Given the description of an element on the screen output the (x, y) to click on. 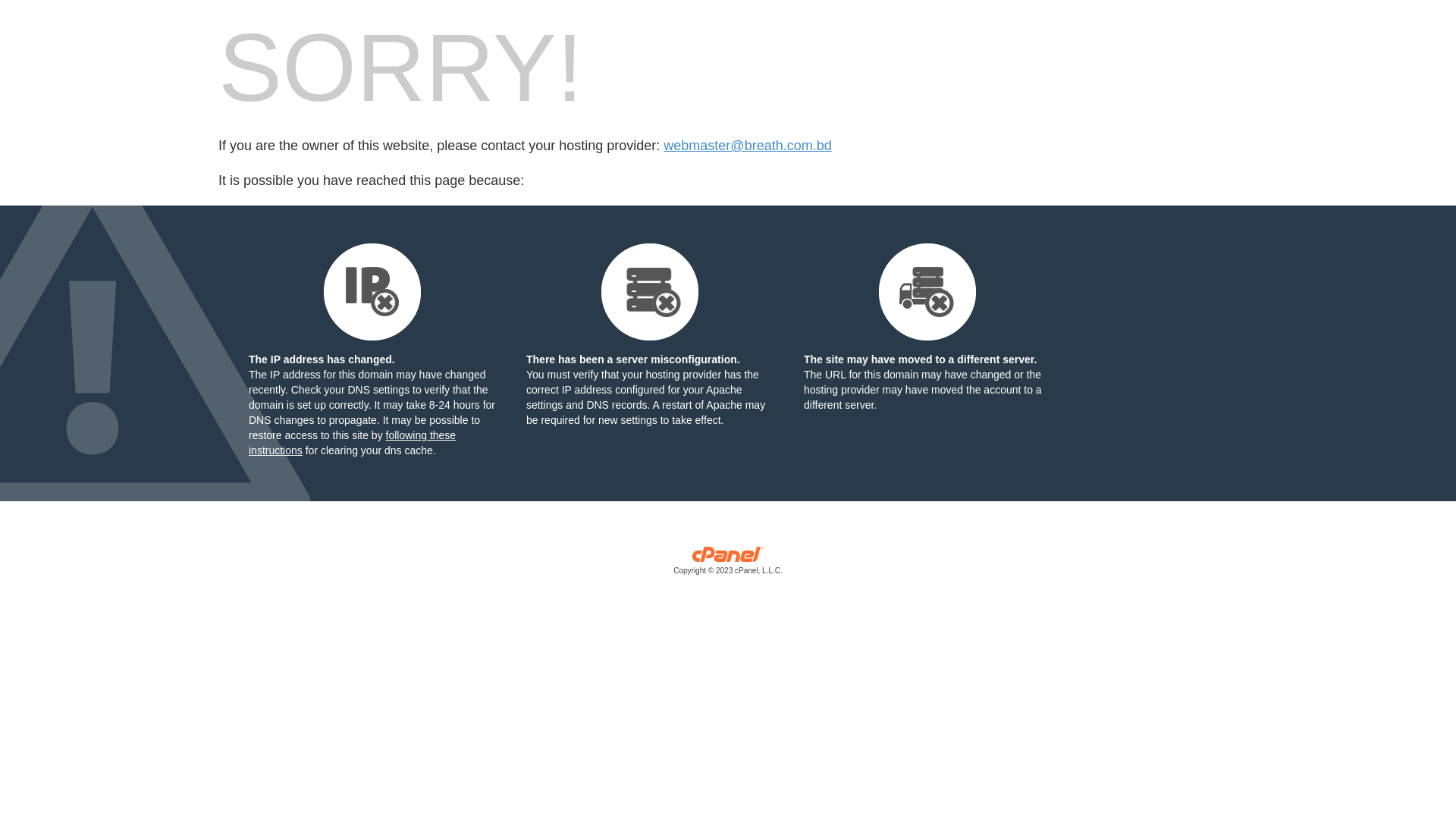
webmaster@breath.com.bd Element type: text (747, 145)
following these instructions Element type: text (351, 442)
